Given the description of an element on the screen output the (x, y) to click on. 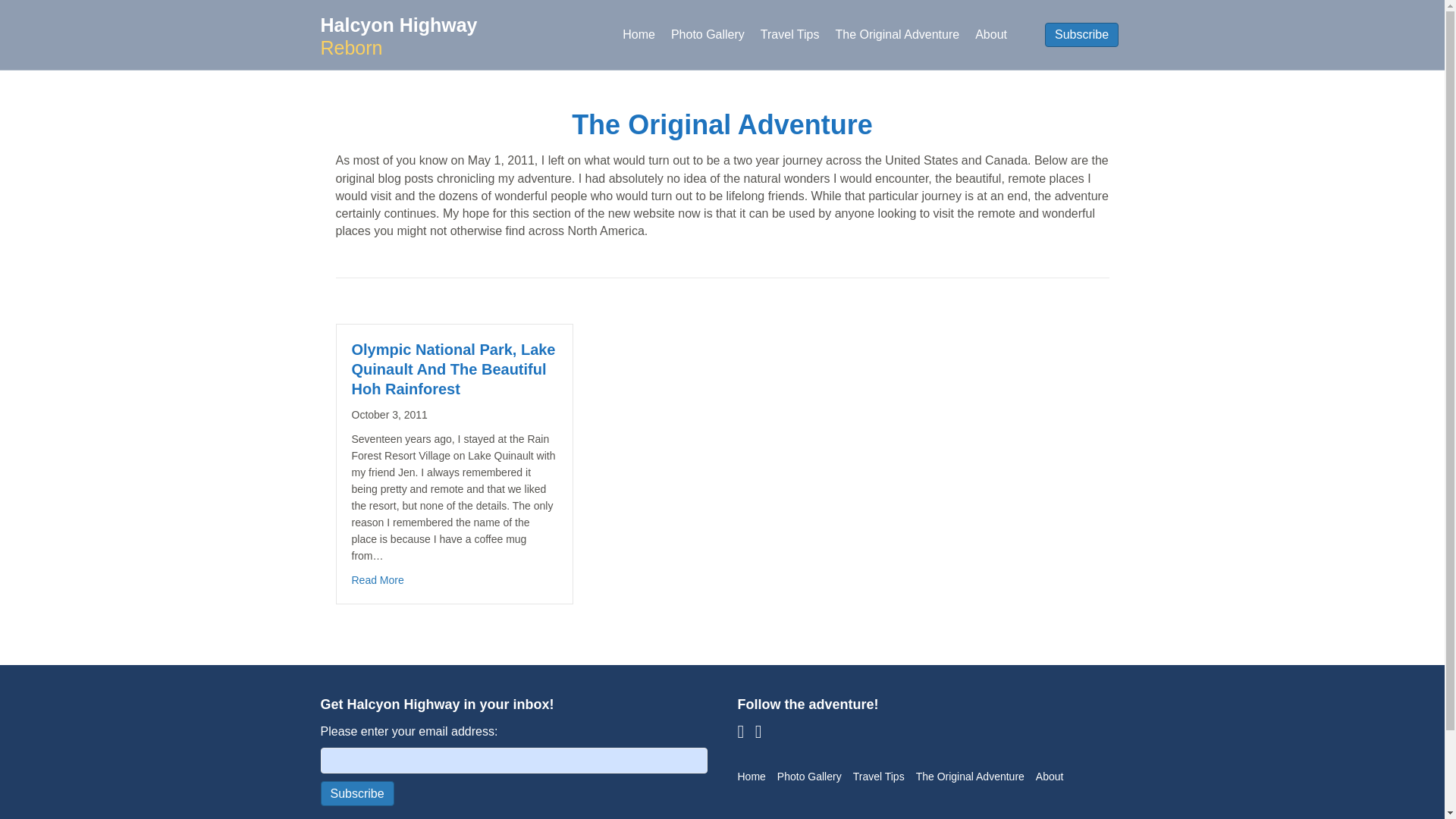
Home (756, 776)
Subscribe (356, 793)
About (1054, 776)
Travel Tips (884, 776)
The Original Adventure (898, 34)
The Original Adventure (975, 776)
About (991, 34)
Home (638, 34)
